Given the description of an element on the screen output the (x, y) to click on. 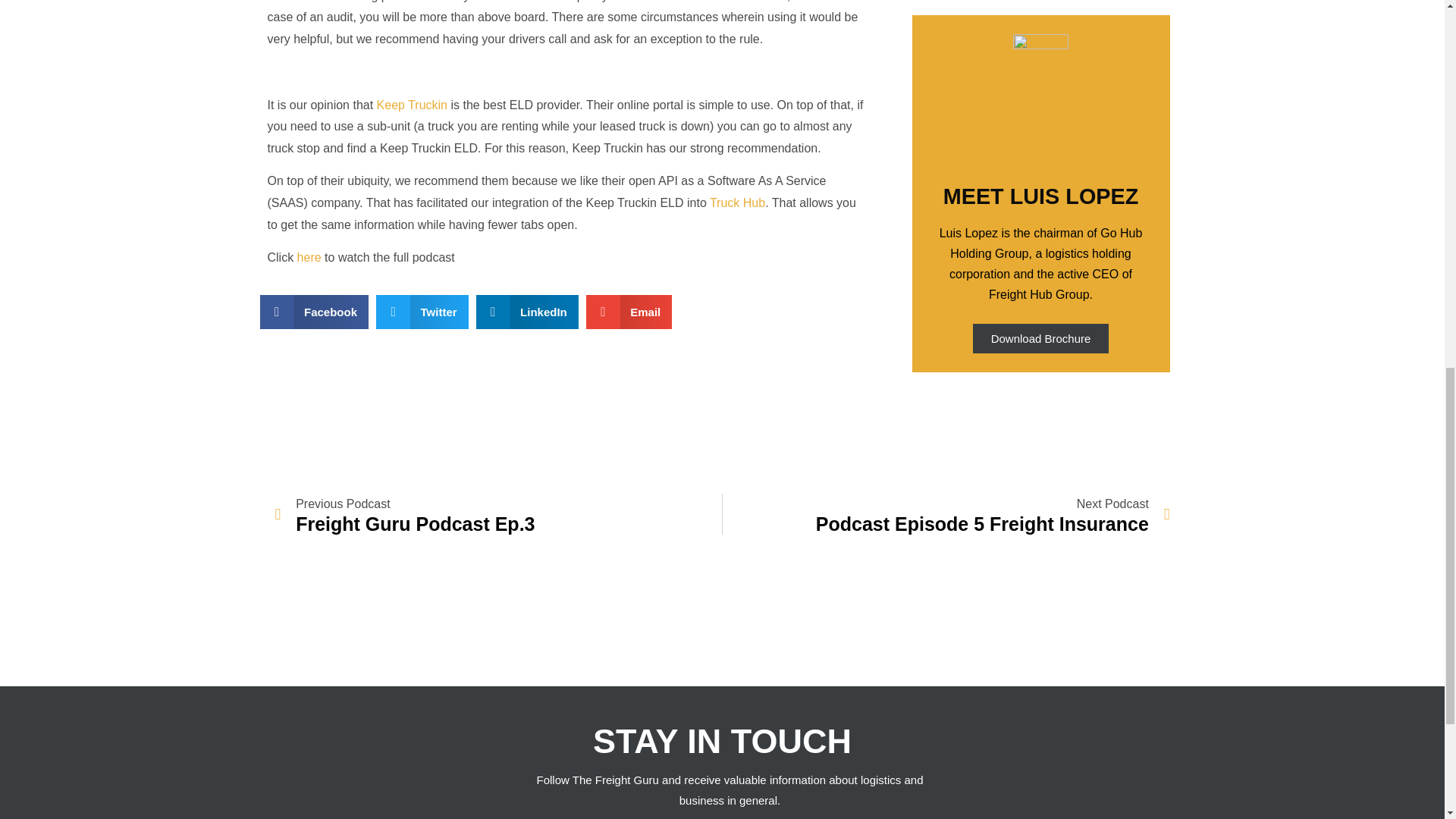
Truck Hub (737, 202)
Keep Truckin (411, 104)
here (309, 256)
